Given the description of an element on the screen output the (x, y) to click on. 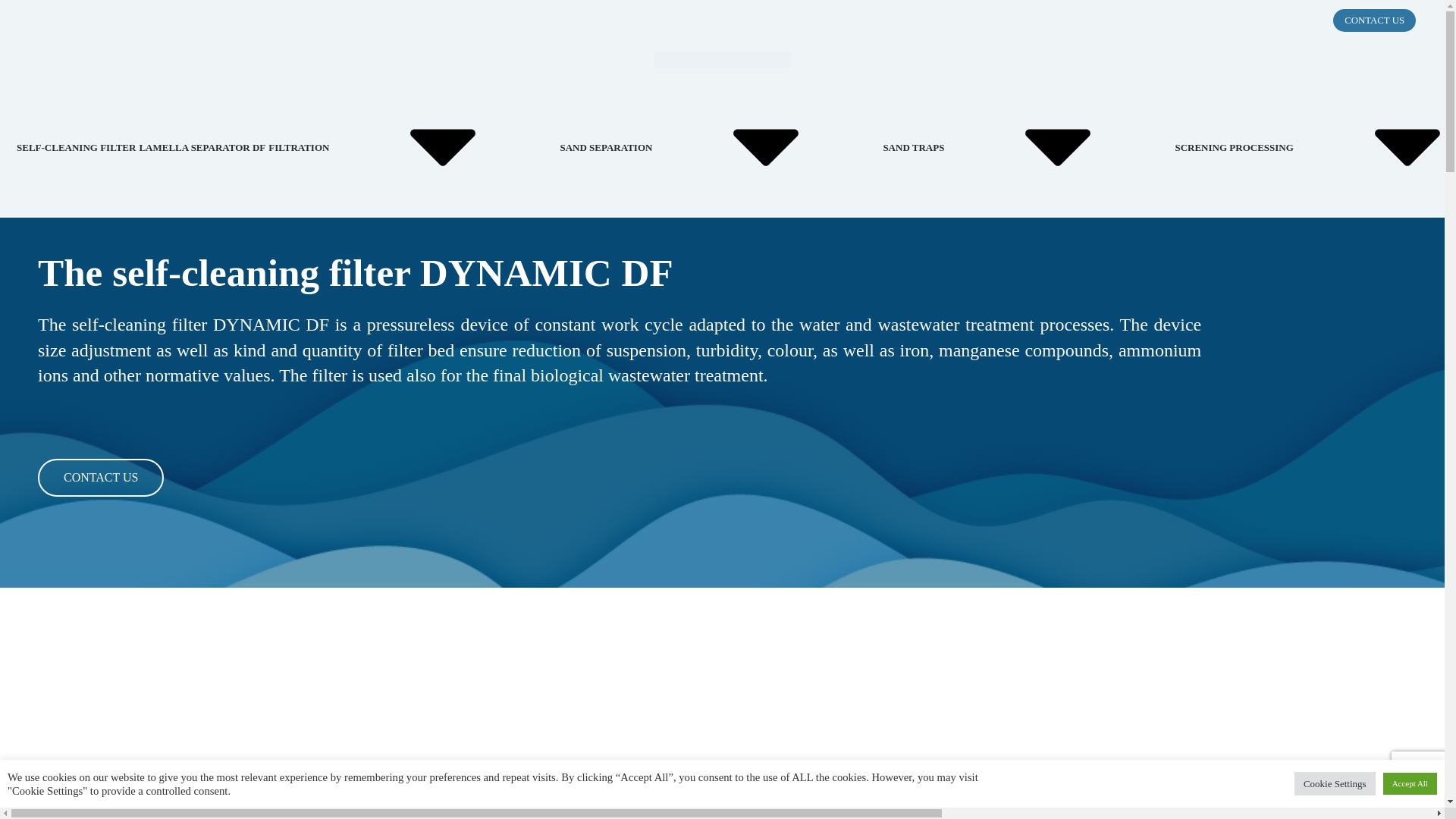
SAND TRAPS (1026, 147)
FILTRATION (411, 147)
reCAPTCHA (1423, 773)
CONTACT US (1374, 20)
SELF-CLEANING FILTER (75, 147)
SAND SEPARATION (718, 147)
LAMELLA SEPARATOR DF (201, 147)
SCRENING PROCESSING (1314, 147)
